Given the description of an element on the screen output the (x, y) to click on. 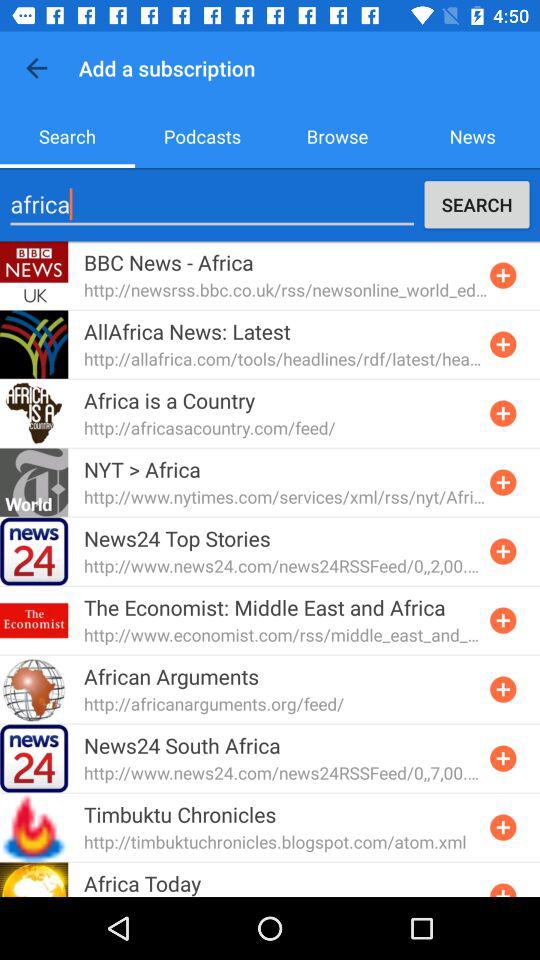
add subscription (503, 482)
